Given the description of an element on the screen output the (x, y) to click on. 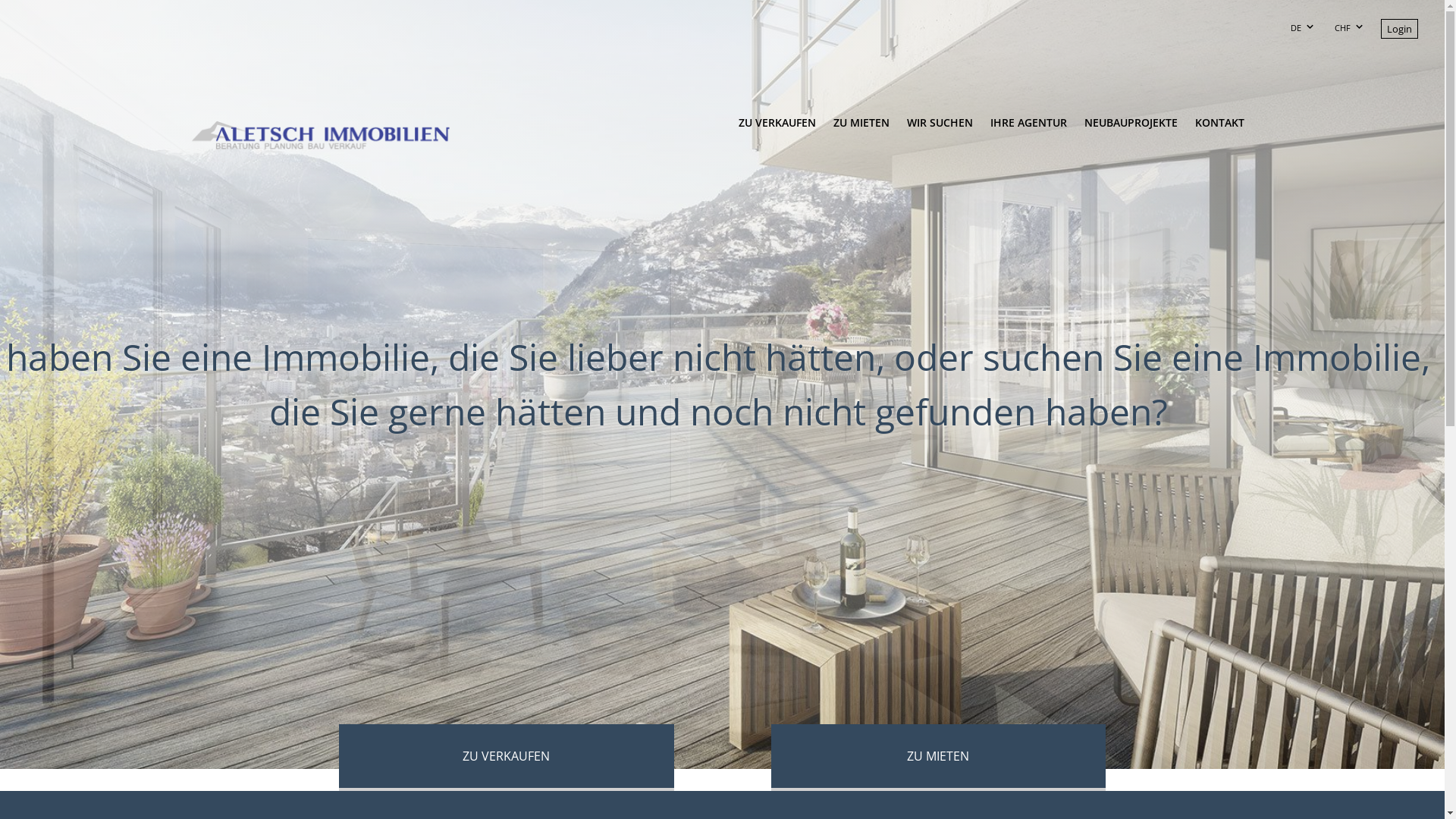
IHRE AGENTUR Element type: text (1028, 123)
KONTAKT Element type: text (1219, 131)
ZU MIETEN Element type: text (937, 757)
NEUBAUPROJEKTE Element type: text (1130, 131)
ZU VERKAUFEN Element type: text (776, 131)
WIR SUCHEN Element type: text (939, 131)
Login Element type: text (1399, 28)
ZU MIETEN Element type: text (860, 131)
ZU VERKAUFEN Element type: text (506, 757)
